Given the description of an element on the screen output the (x, y) to click on. 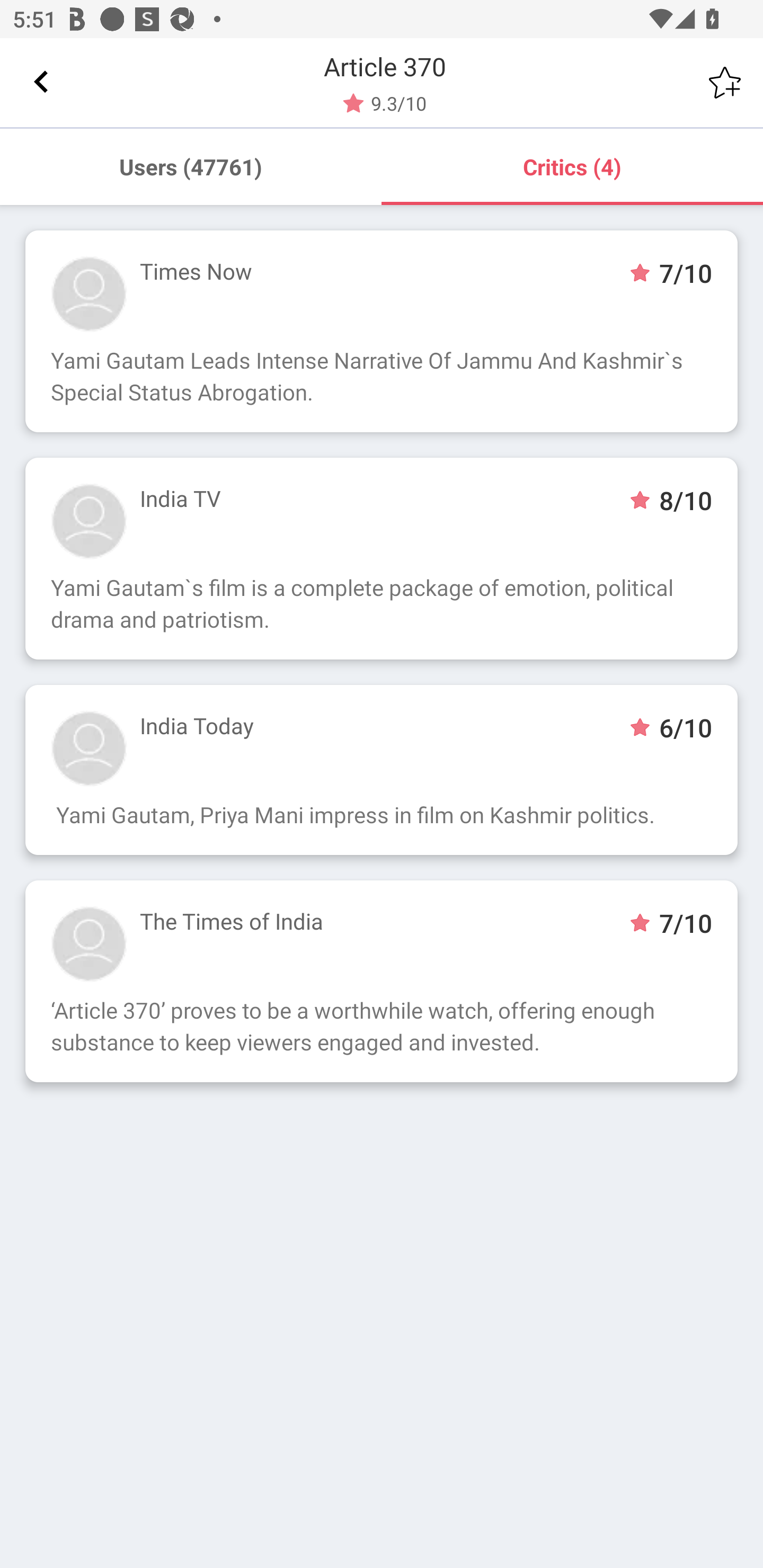
Back (41, 82)
Users (47761) (190, 166)
